Given the description of an element on the screen output the (x, y) to click on. 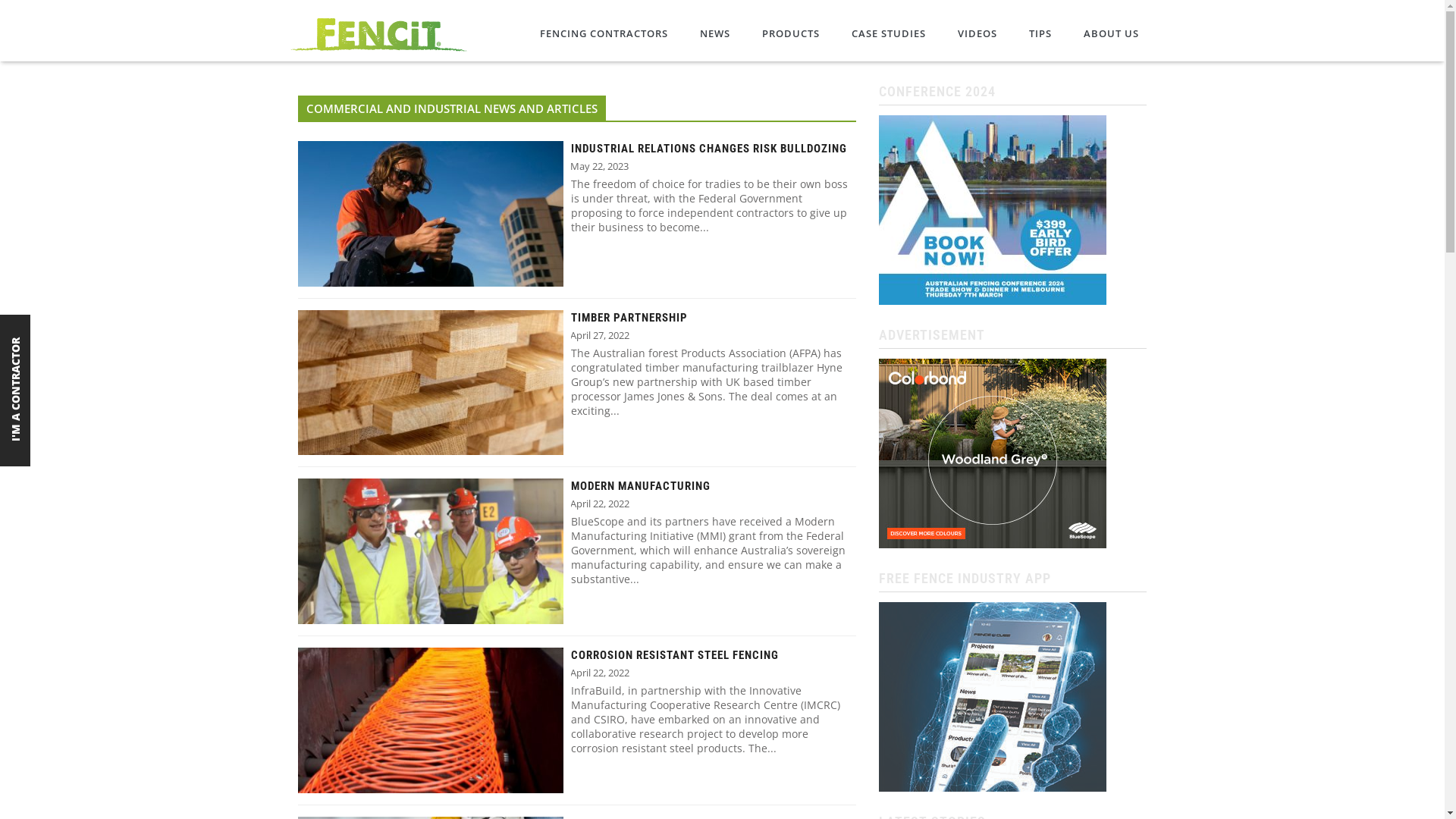
INDUSTRIAL RELATIONS CHANGES RISK BULLDOZING TRADIES Element type: text (713, 148)
TIMBER PARTNERSHIP Element type: text (628, 318)
PRODUCTS Element type: text (790, 32)
TIPS Element type: text (1040, 32)
FENCING CONTRACTORS Element type: text (603, 32)
VIDEOS Element type: text (977, 32)
CORROSION RESISTANT STEEL FENCING Element type: text (674, 655)
NEWS Element type: text (715, 32)
CASE STUDIES Element type: text (888, 32)
I'M A CONTRACTOR Element type: text (67, 325)
MODERN MANUFACTURING Element type: text (639, 486)
ABOUT US Element type: text (1110, 32)
